Given the description of an element on the screen output the (x, y) to click on. 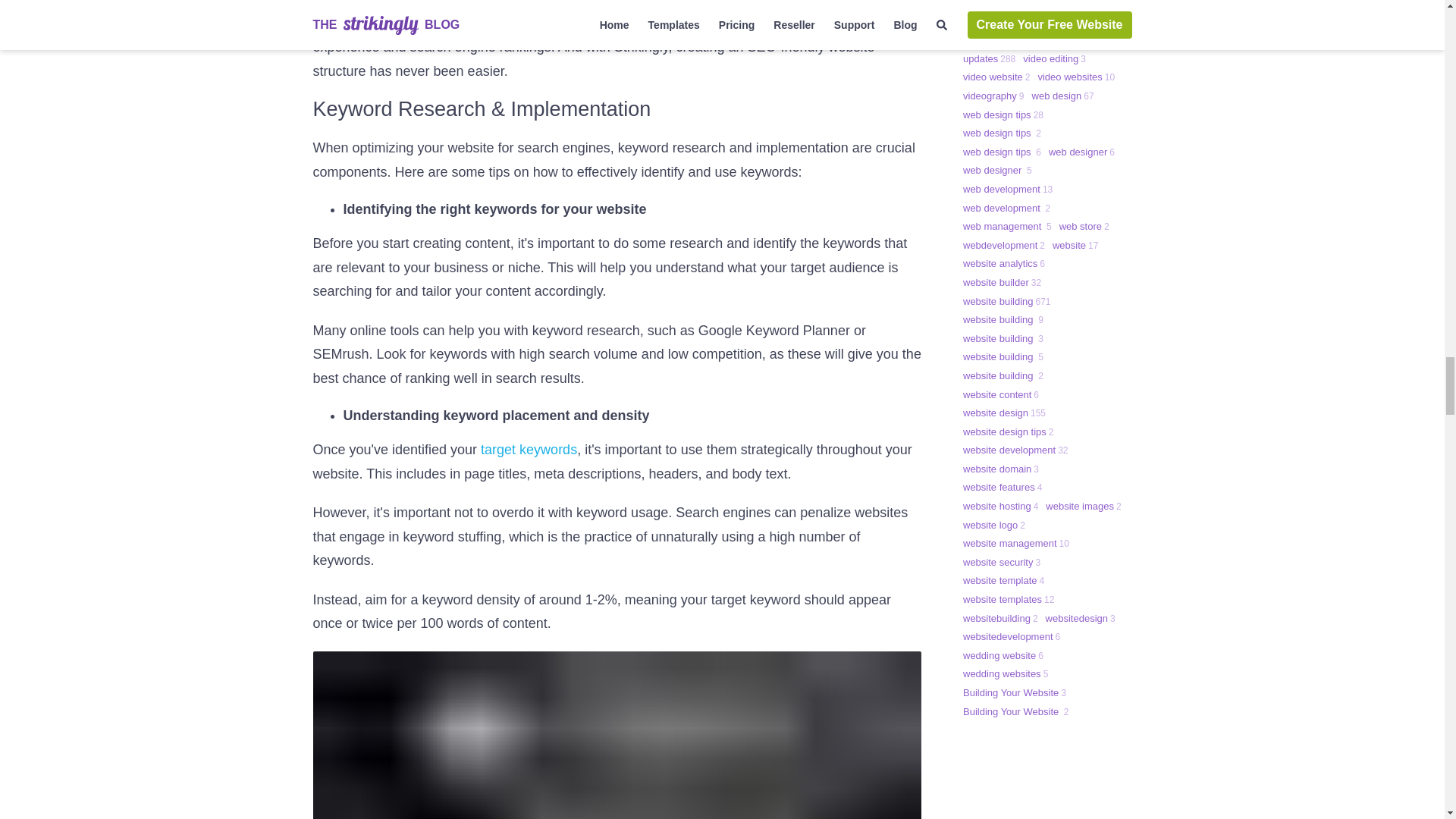
target keywords (528, 449)
